Given the description of an element on the screen output the (x, y) to click on. 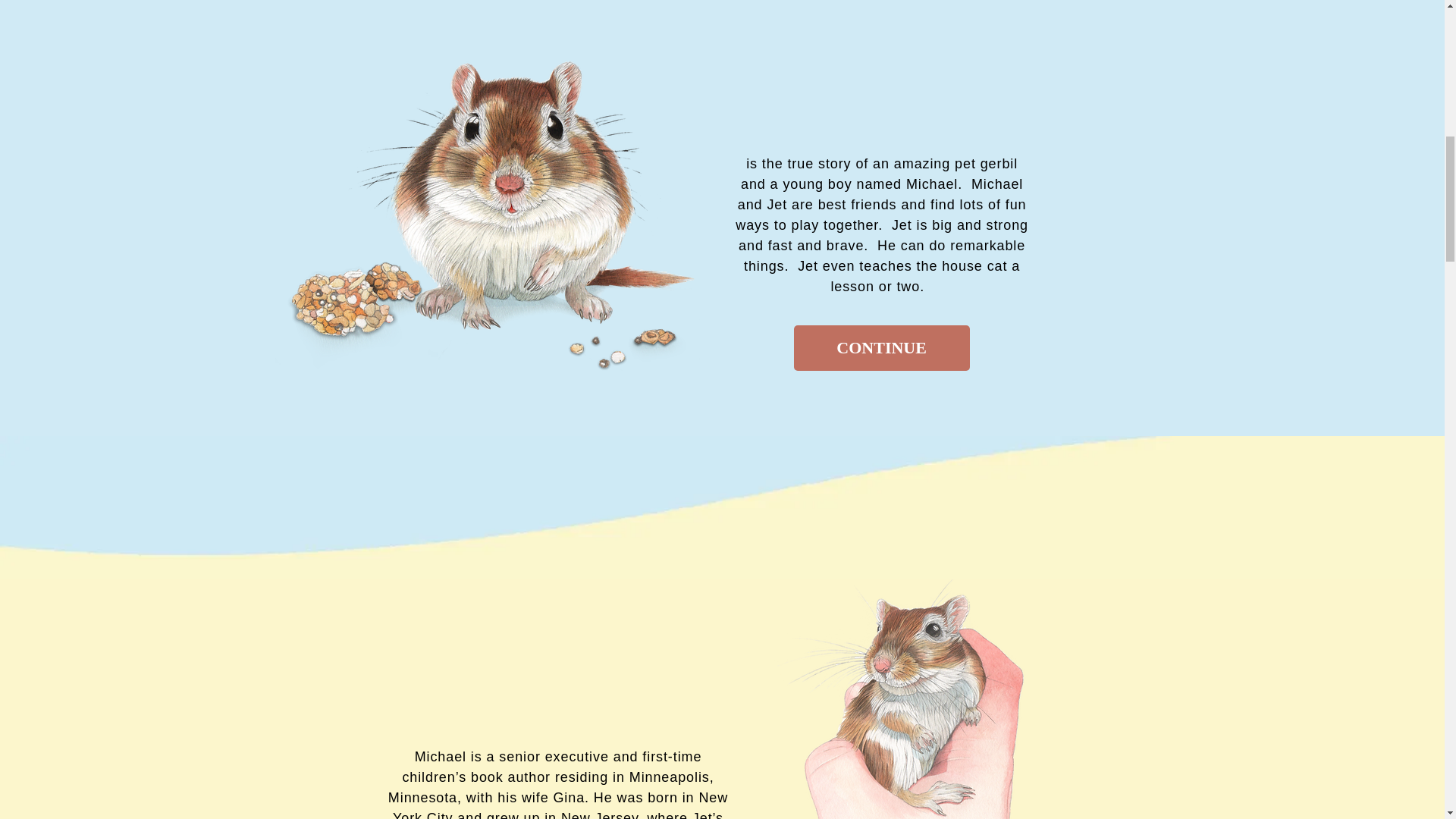
CONTINUE (881, 348)
